Given the description of an element on the screen output the (x, y) to click on. 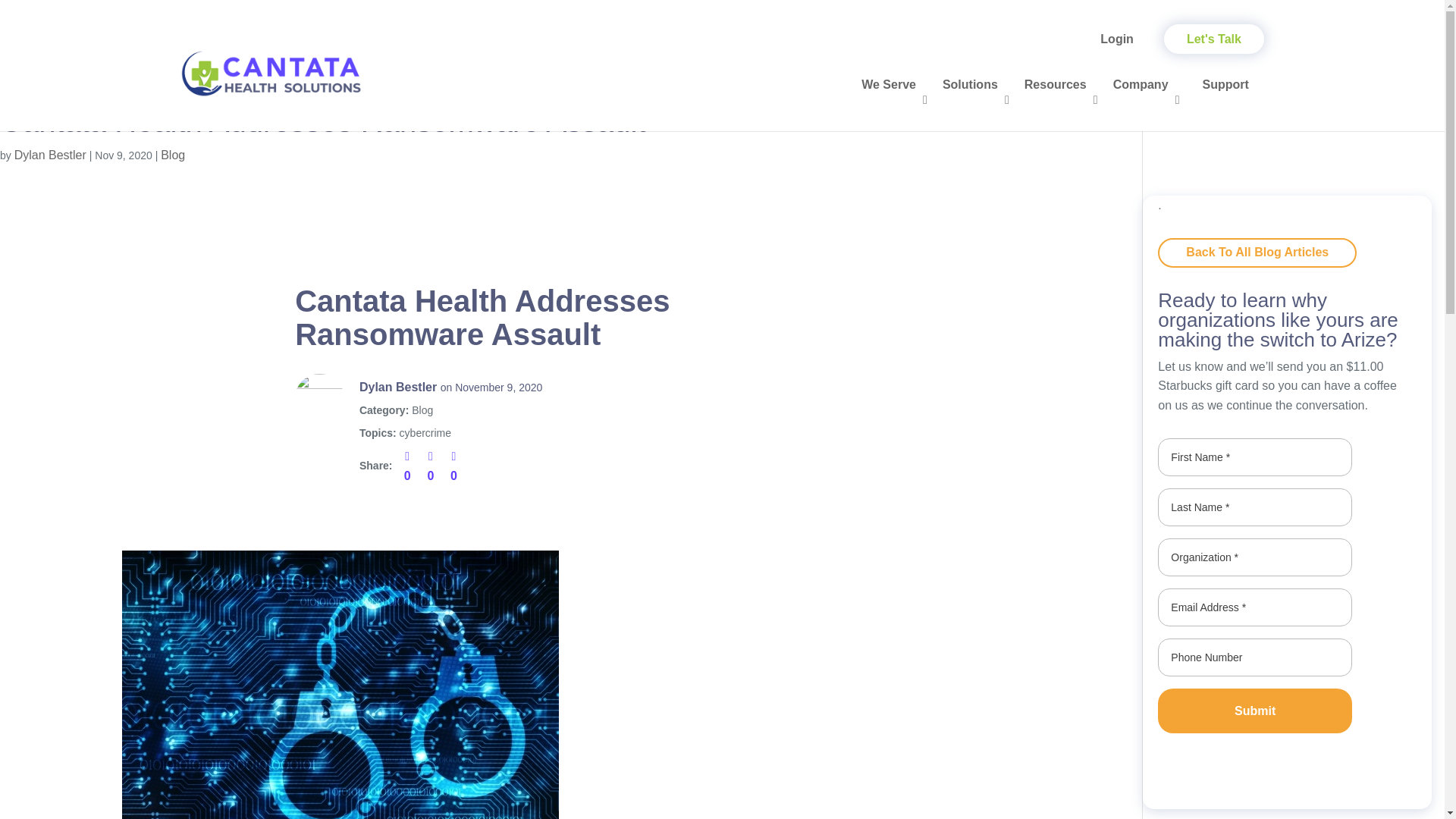
Login (1116, 39)
Blog (172, 155)
We Serve (893, 98)
Support (1225, 98)
Submit (1254, 710)
Dylan Bestler (49, 155)
Back To All Blog Articles (1256, 252)
Solutions (975, 98)
Company (1146, 98)
Submit (1254, 710)
Posts by Dylan Bestler (49, 155)
Resources (1060, 98)
Let's Talk (1213, 39)
